Given the description of an element on the screen output the (x, y) to click on. 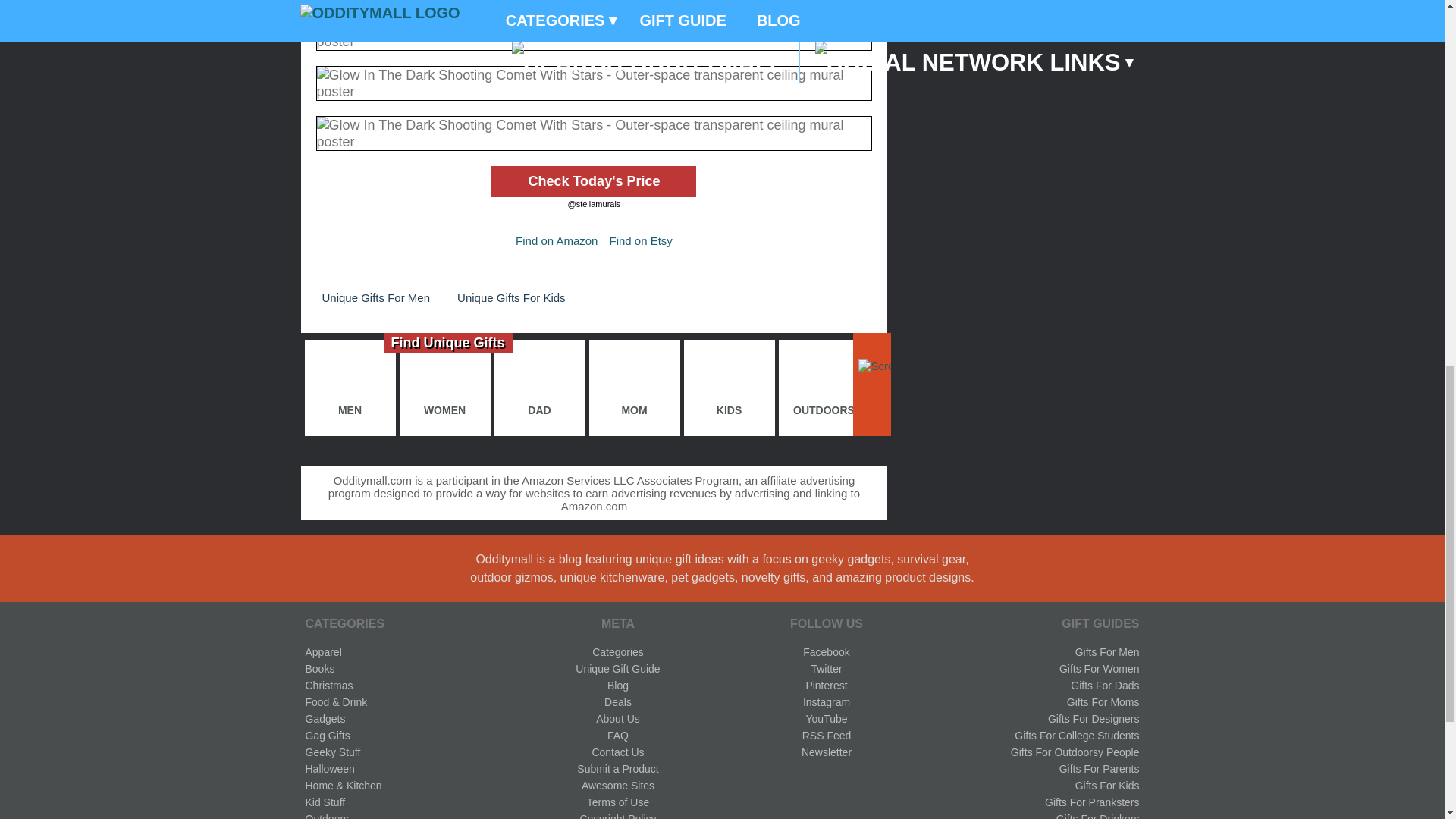
Unique Gifts For Men (375, 297)
Check Today's Price (593, 181)
Find on Etsy (639, 240)
Unique Gifts For Kids (511, 297)
Unique Gifts For Kids (511, 297)
Unique Gifts For Men (375, 297)
Find on Amazon (555, 240)
